Given the description of an element on the screen output the (x, y) to click on. 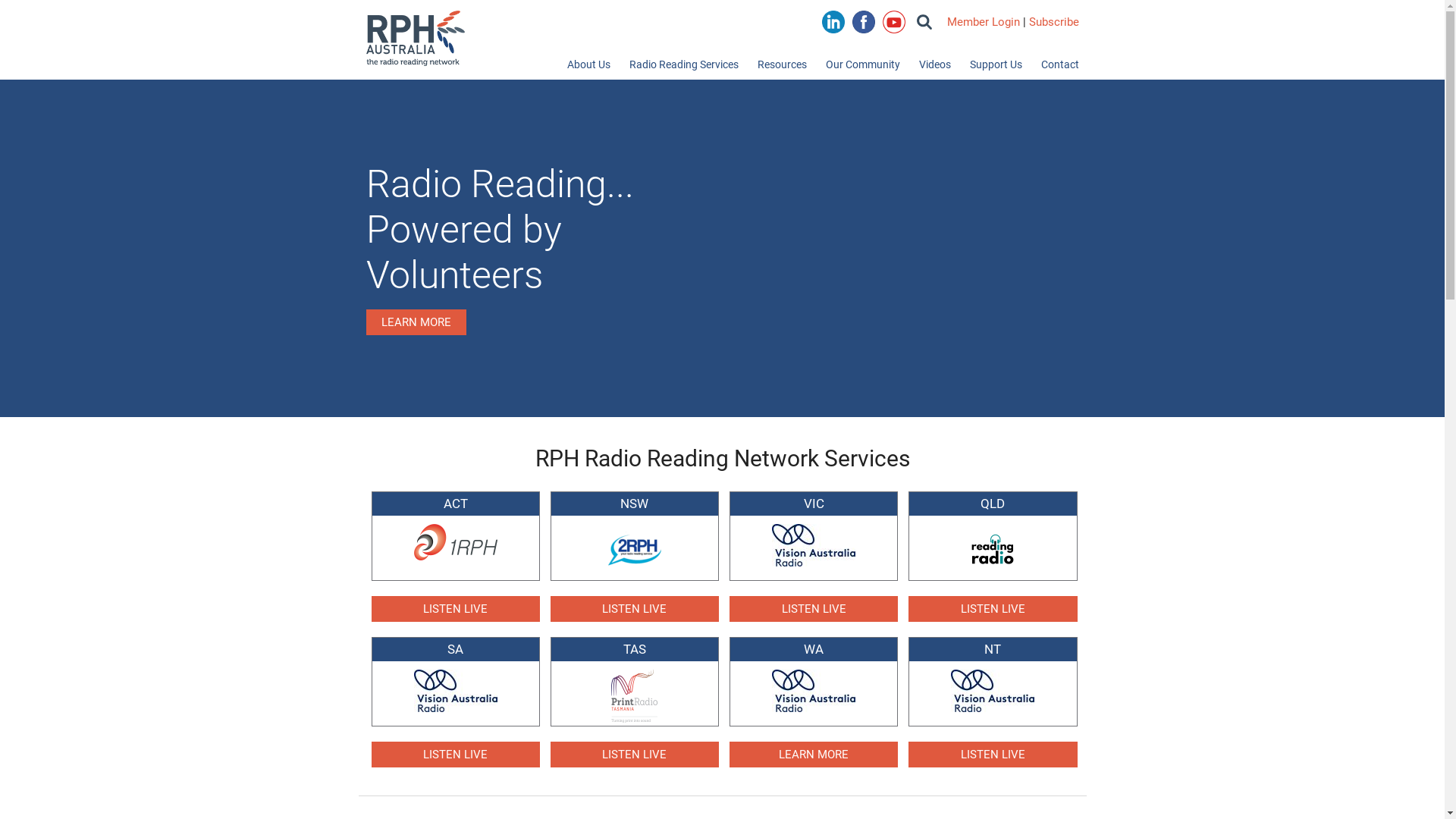
About Us Element type: text (588, 68)
QLD Element type: text (992, 534)
Videos Element type: text (934, 68)
Contact Element type: text (1059, 68)
LISTEN LIVE Element type: text (813, 608)
LISTEN LIVE Element type: text (634, 754)
ACT Element type: text (454, 526)
NT Element type: text (992, 674)
Subscribe Element type: text (1053, 21)
Member Login Element type: text (982, 21)
Support Us Element type: text (995, 68)
Radio Reading Services Element type: text (683, 68)
WA Element type: text (813, 674)
NSW Element type: text (634, 534)
LISTEN LIVE Element type: text (992, 754)
LISTEN LIVE Element type: text (455, 754)
TAS Element type: text (634, 679)
LISTEN LIVE Element type: text (634, 608)
LISTEN LIVE Element type: text (455, 608)
Resources Element type: text (781, 68)
VIC Element type: text (813, 529)
Our Community Element type: text (862, 68)
LEARN MORE Element type: text (415, 322)
SA Element type: text (454, 674)
LEARN MORE Element type: text (813, 754)
LISTEN LIVE Element type: text (992, 608)
